Given the description of an element on the screen output the (x, y) to click on. 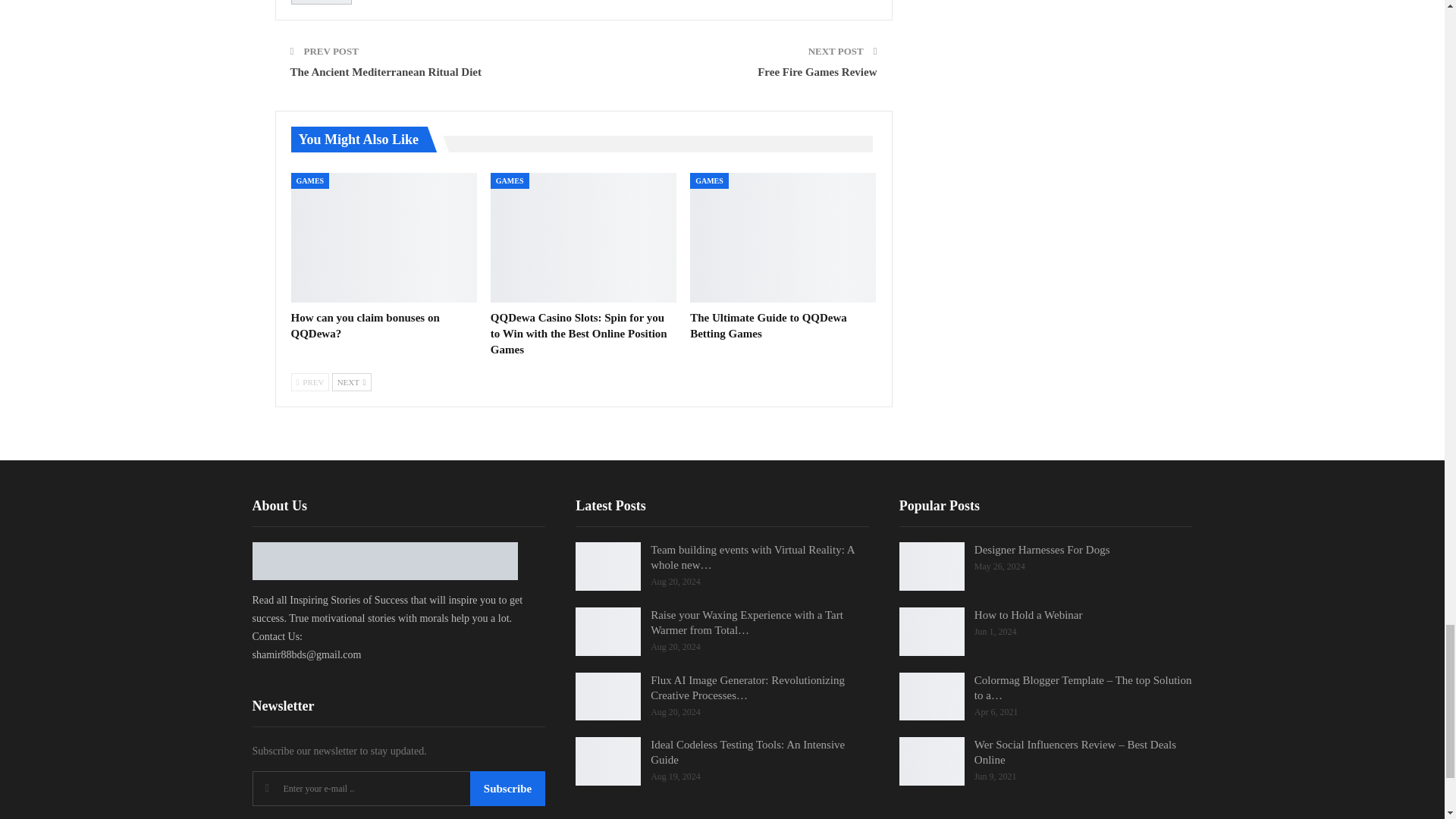
The Ultimate Guide to QQDewa Betting Games (783, 237)
How can you claim bonuses on QQDewa? (365, 325)
How can you claim bonuses on QQDewa? (384, 237)
